Given the description of an element on the screen output the (x, y) to click on. 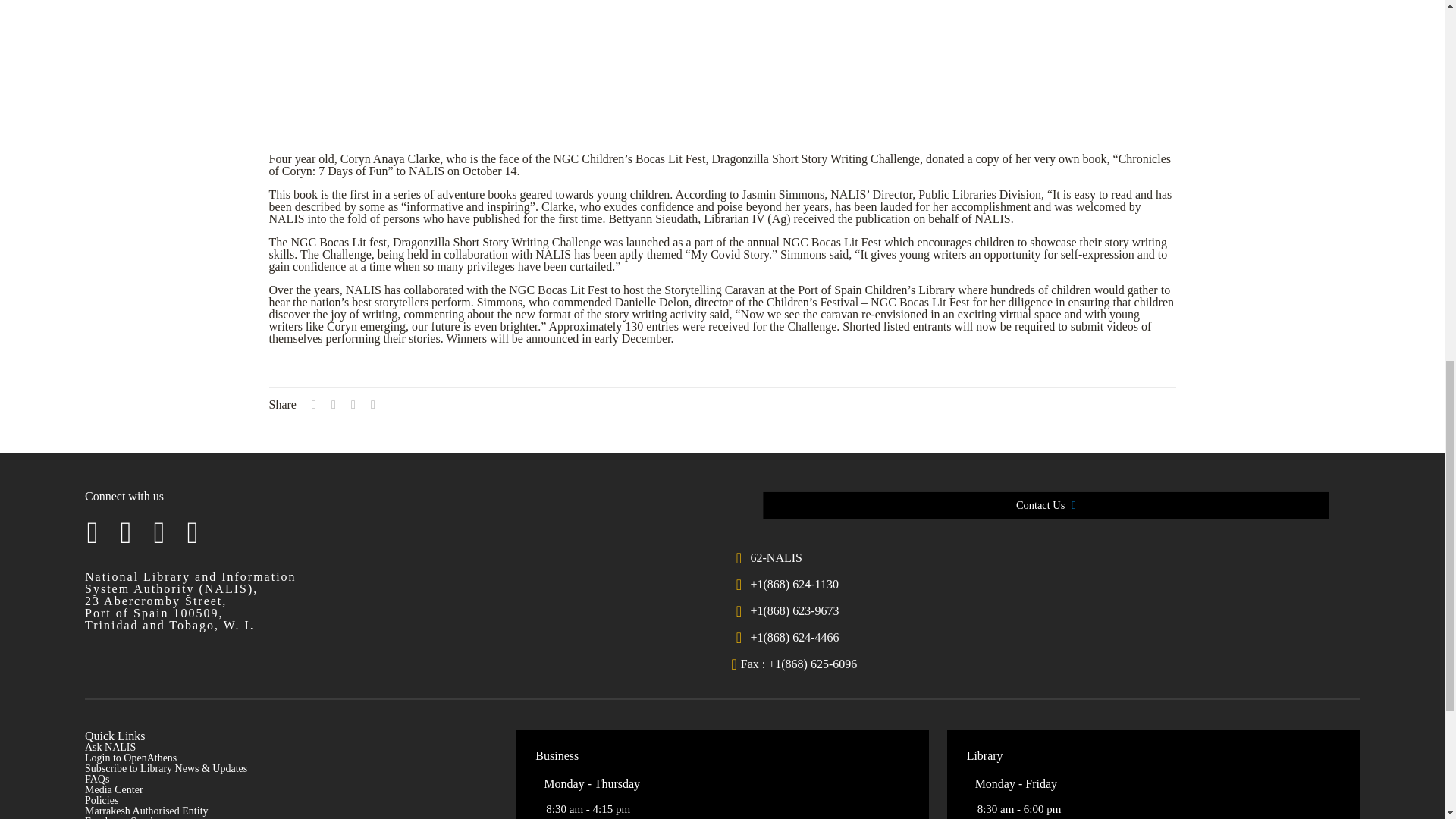
FAQs (96, 778)
Media Center (113, 789)
Marrakesh Authorised Entity (146, 810)
Contact Us (1076, 506)
NALIS on Instagram (159, 532)
Ask NALIS (109, 747)
NALIS on Facebook (92, 532)
Login to OpenAthens (130, 757)
NALIS on YouTube (192, 532)
NALIS on Twitter (125, 532)
